Given the description of an element on the screen output the (x, y) to click on. 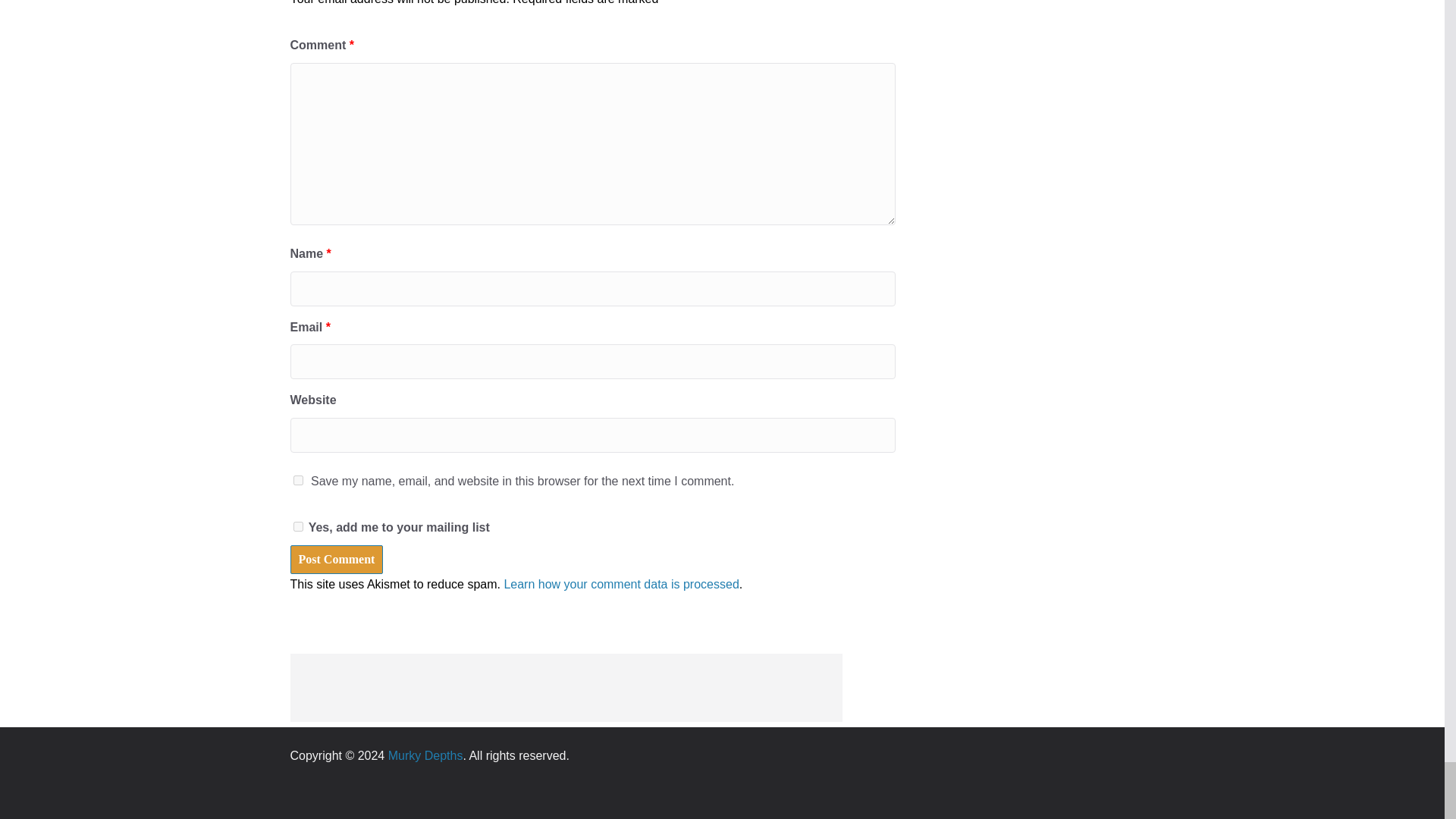
yes (297, 480)
Post Comment (335, 559)
1 (297, 526)
